Given the description of an element on the screen output the (x, y) to click on. 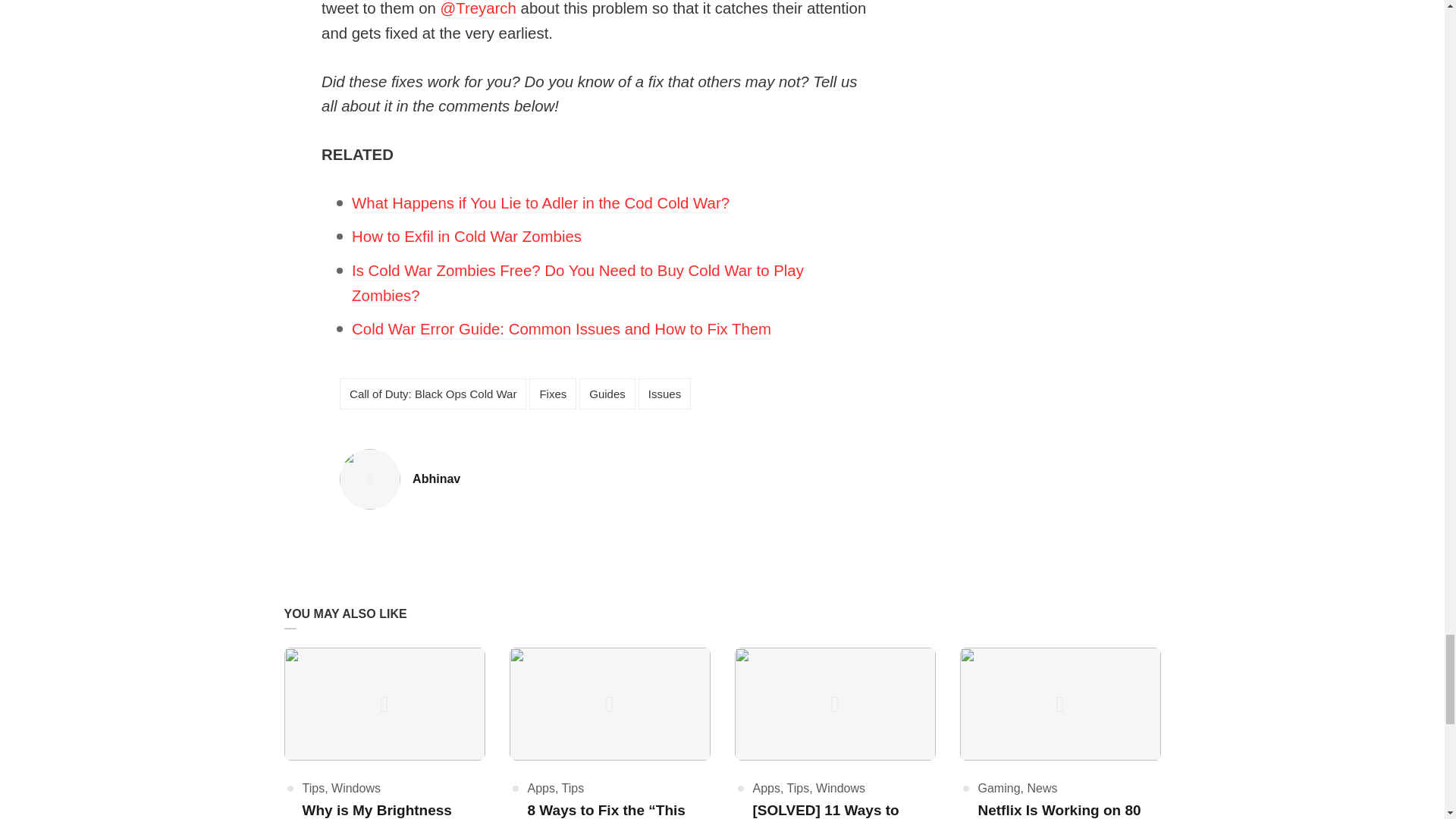
What Happens if You Lie to Adler in the Cod Cold War? (540, 203)
Call of Duty: Black Ops Cold War (432, 393)
Guides (606, 393)
Issues (664, 393)
How to Exfil in Cold War Zombies (436, 479)
Cold War Error Guide: Common Issues and How to Fix Them (466, 237)
Fixes (561, 330)
